Given the description of an element on the screen output the (x, y) to click on. 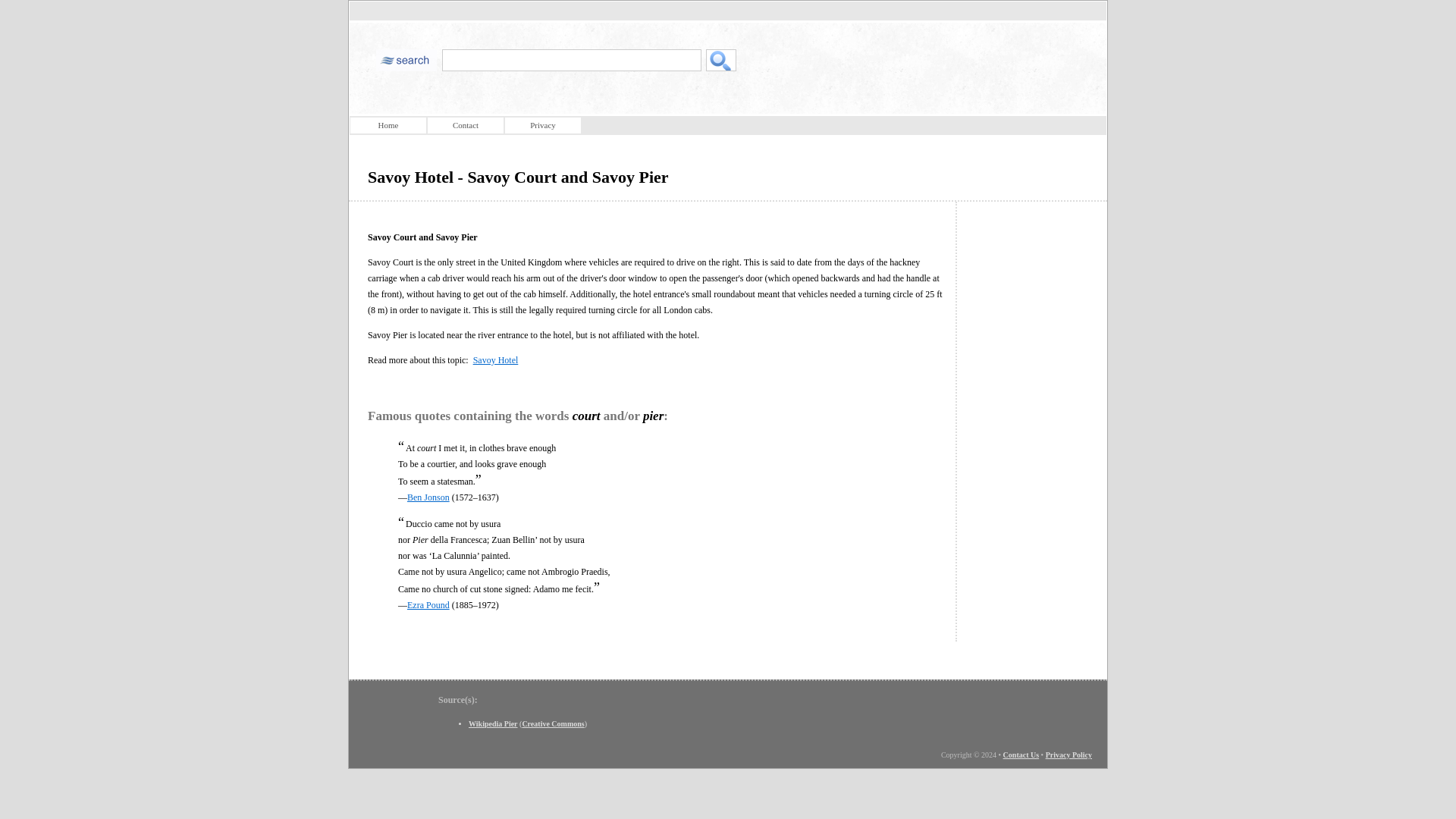
Ben Jonson (428, 497)
Privacy (542, 125)
Privacy Policy (1068, 755)
Ezra Pound (428, 604)
Home (388, 125)
Who is Ben Jonson? (428, 497)
Wikipedia Pier (493, 723)
Contact Us (1021, 755)
Savoy Hotel (495, 359)
Contact (465, 125)
Who is Ezra Pound? (428, 604)
Creative Commons (552, 723)
